Given the description of an element on the screen output the (x, y) to click on. 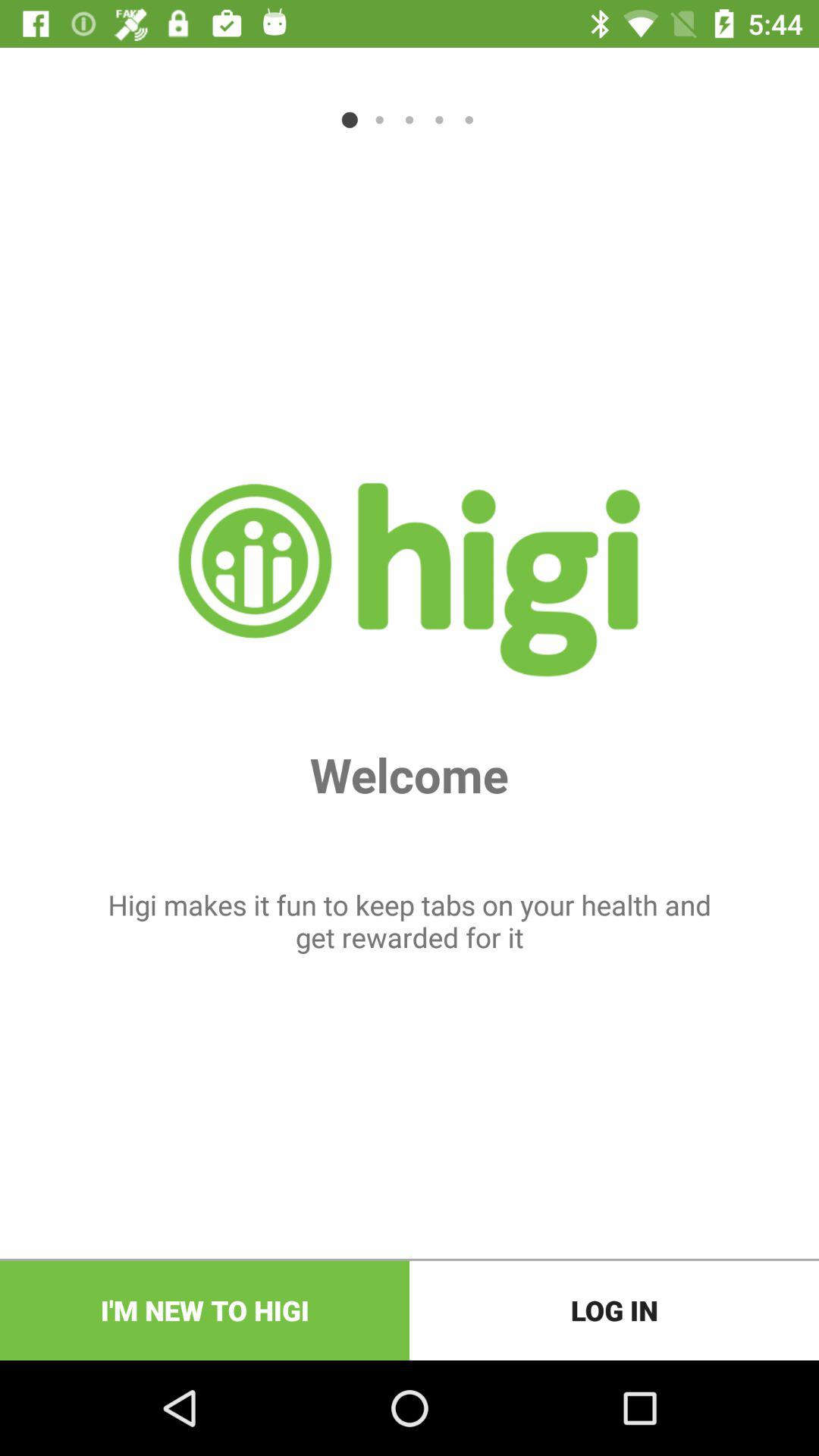
choose item next to log in item (204, 1310)
